Given the description of an element on the screen output the (x, y) to click on. 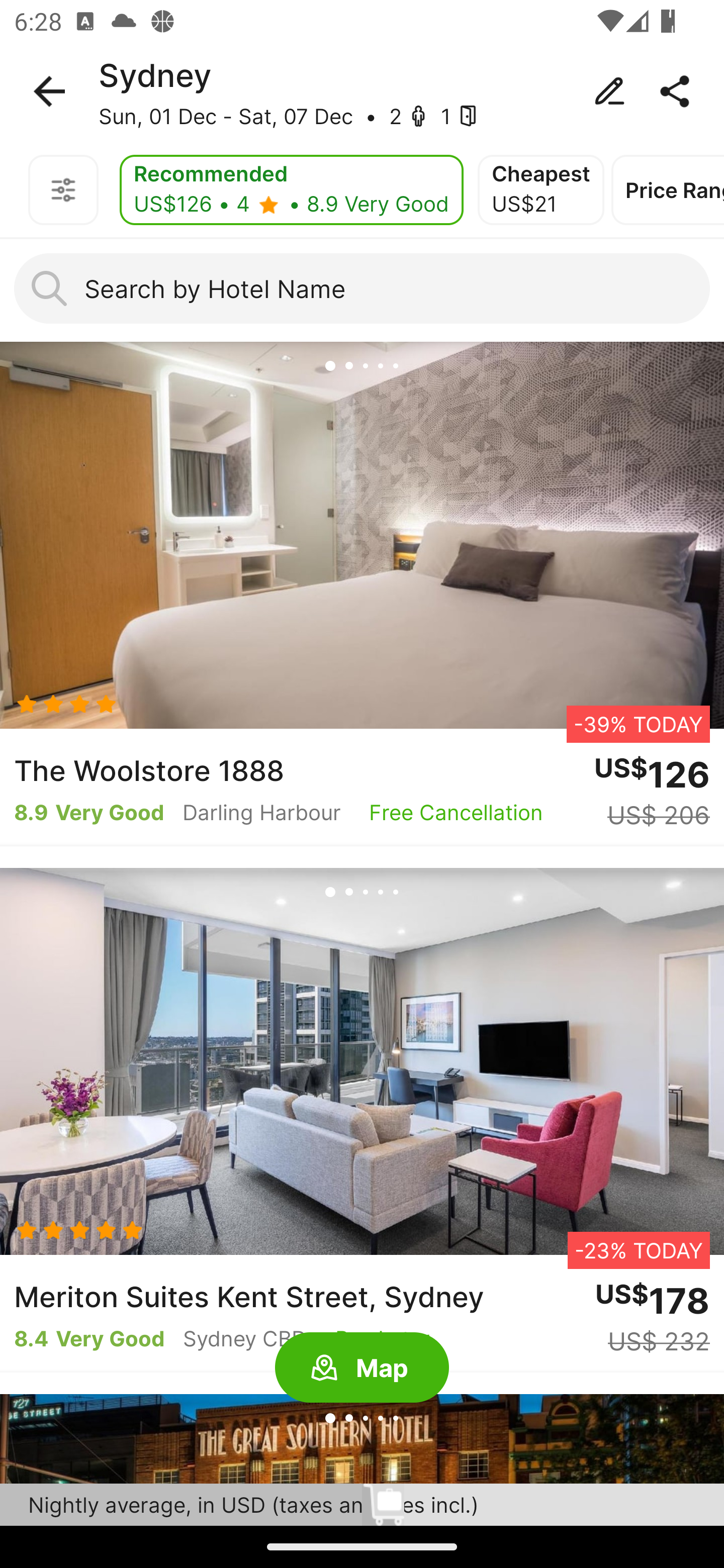
Sydney Sun, 01 Dec - Sat, 07 Dec  •  2 -  1 - (361, 91)
Recommended  US$126  • 4 - • 8.9 Very Good (291, 190)
Cheapest US$21 (540, 190)
Price Range (667, 190)
Search by Hotel Name  (361, 288)
Map  (361, 1367)
